Given the description of an element on the screen output the (x, y) to click on. 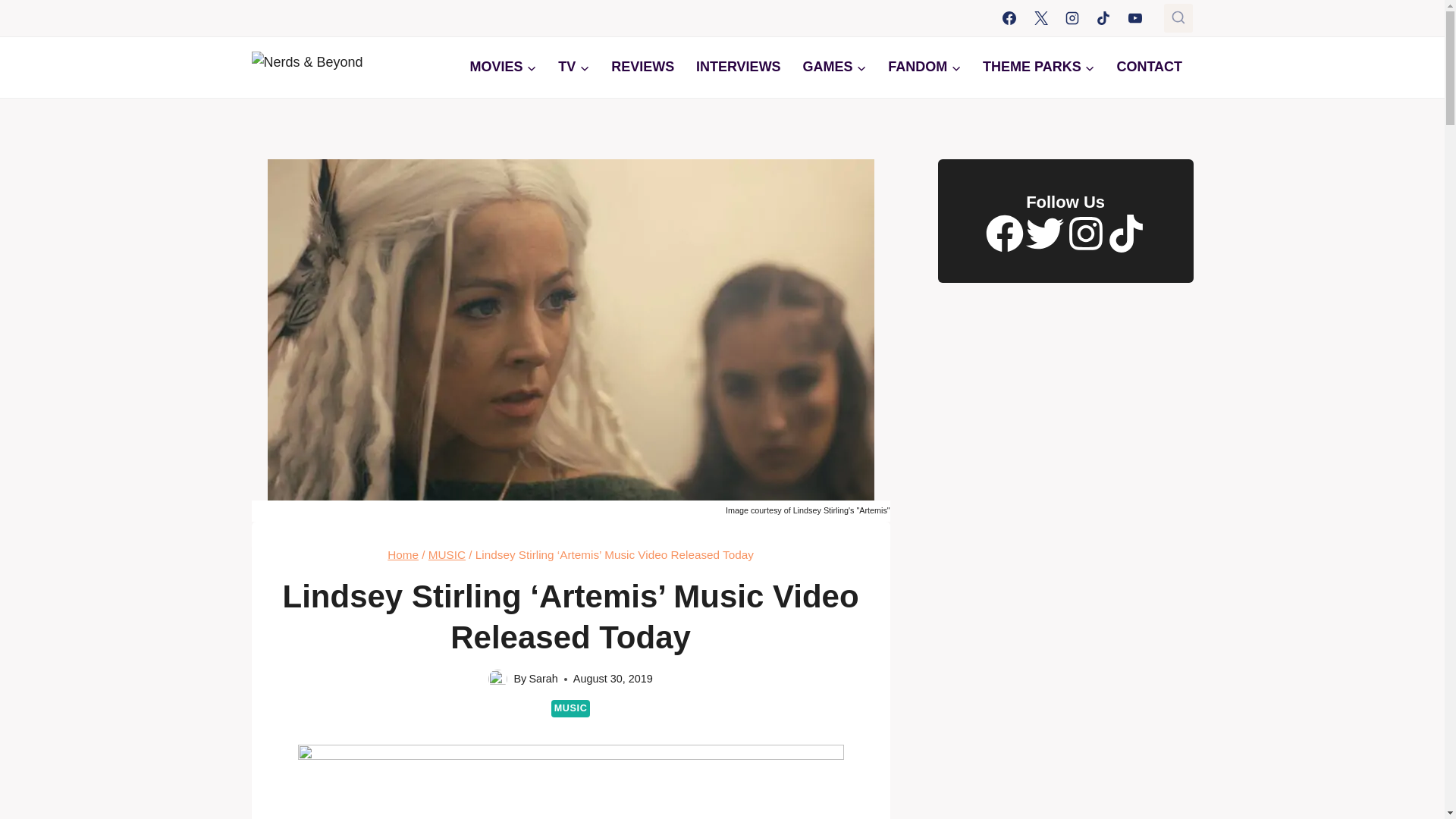
MOVIES (502, 66)
TV (573, 66)
